Given the description of an element on the screen output the (x, y) to click on. 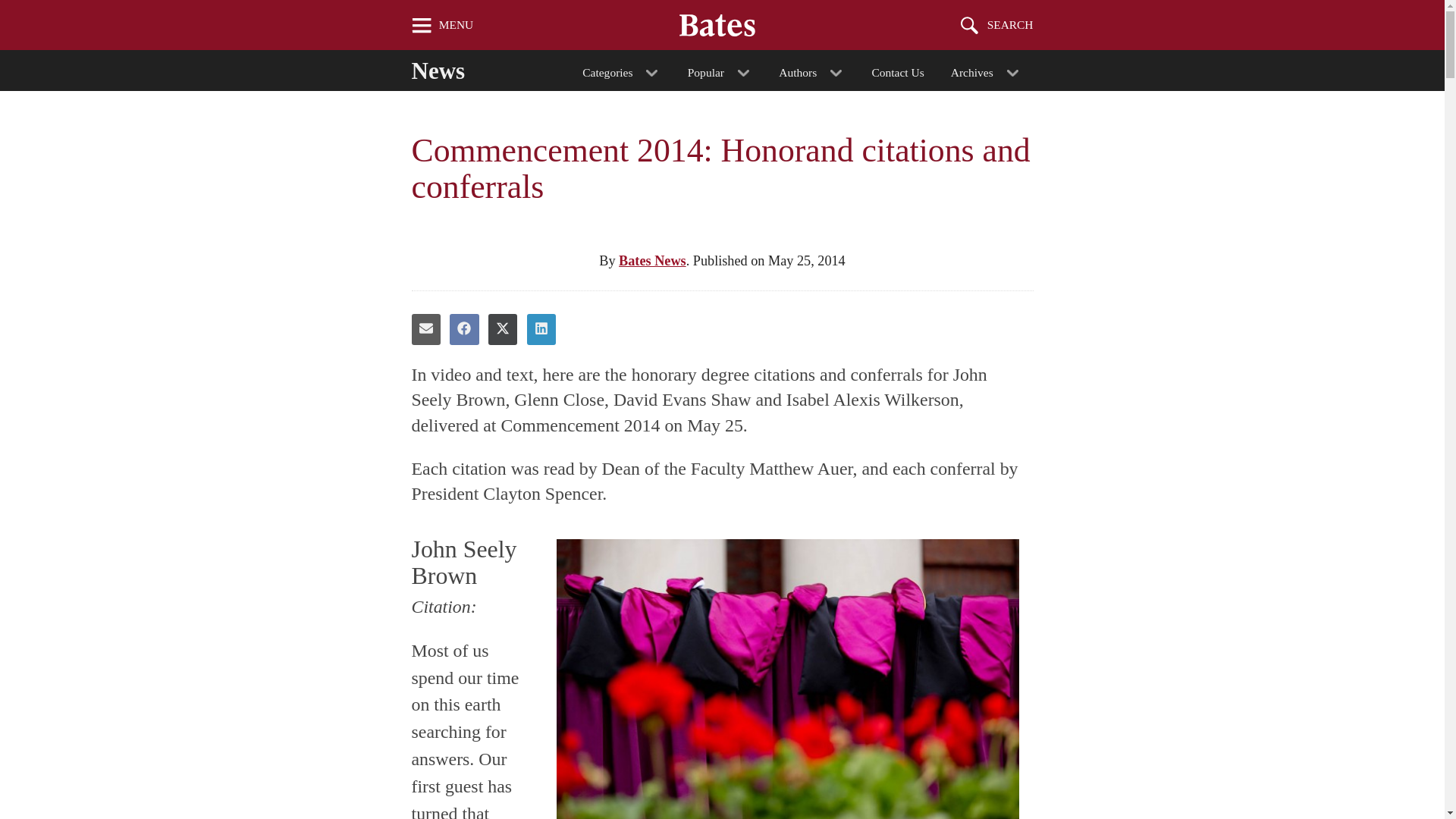
SEARCH (996, 24)
Bates wordmark (717, 24)
Posts by Bates News (651, 260)
Categories (621, 69)
MENU (442, 24)
News (452, 66)
